Given the description of an element on the screen output the (x, y) to click on. 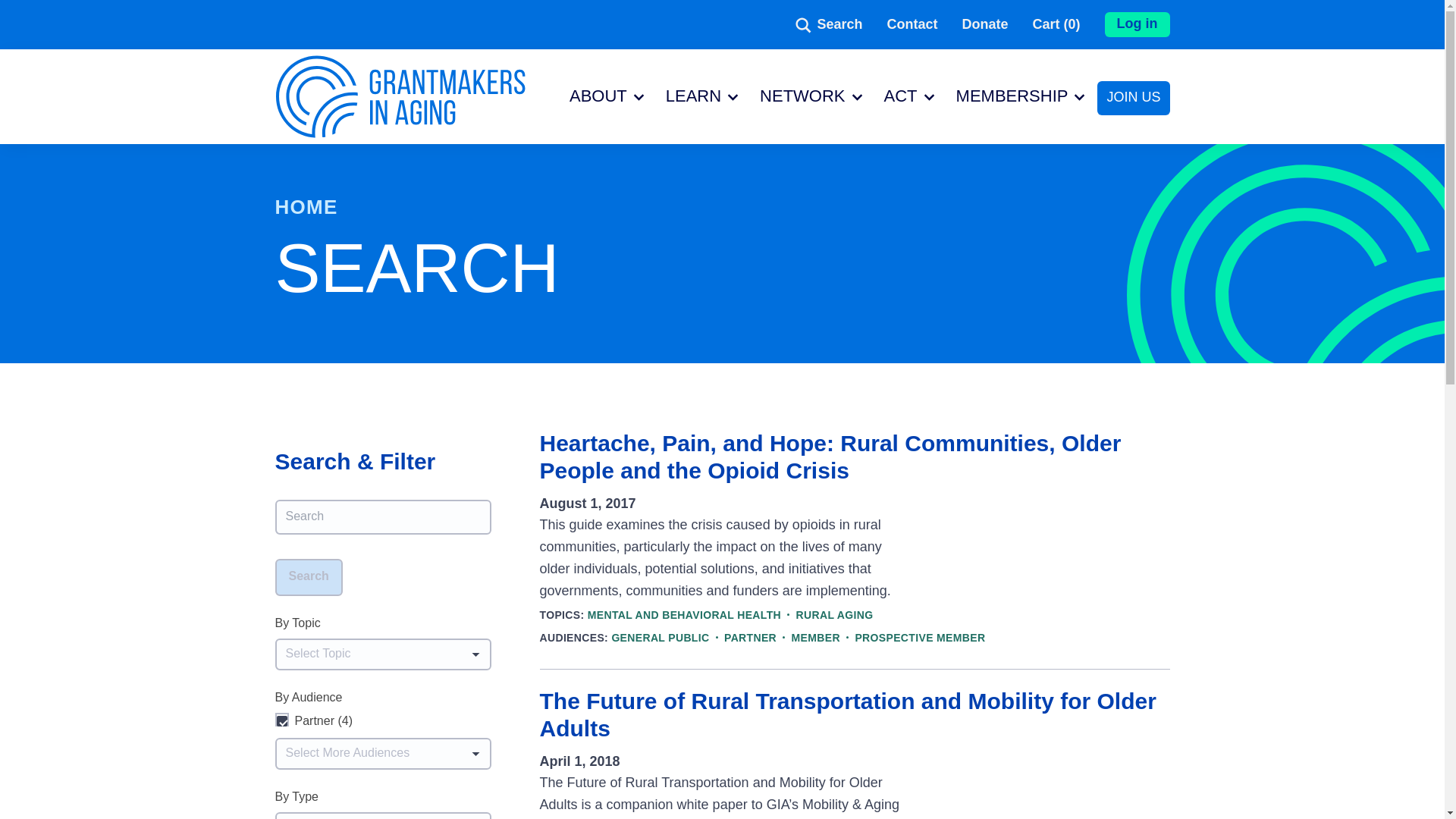
LEARN (691, 115)
Contact (911, 24)
ABOUT (596, 115)
JOIN US (1133, 98)
Search (827, 24)
NETWORK (800, 115)
Donate (983, 24)
Learn (691, 115)
Donation form (983, 24)
MEMBERSHIP (1010, 115)
